Given the description of an element on the screen output the (x, y) to click on. 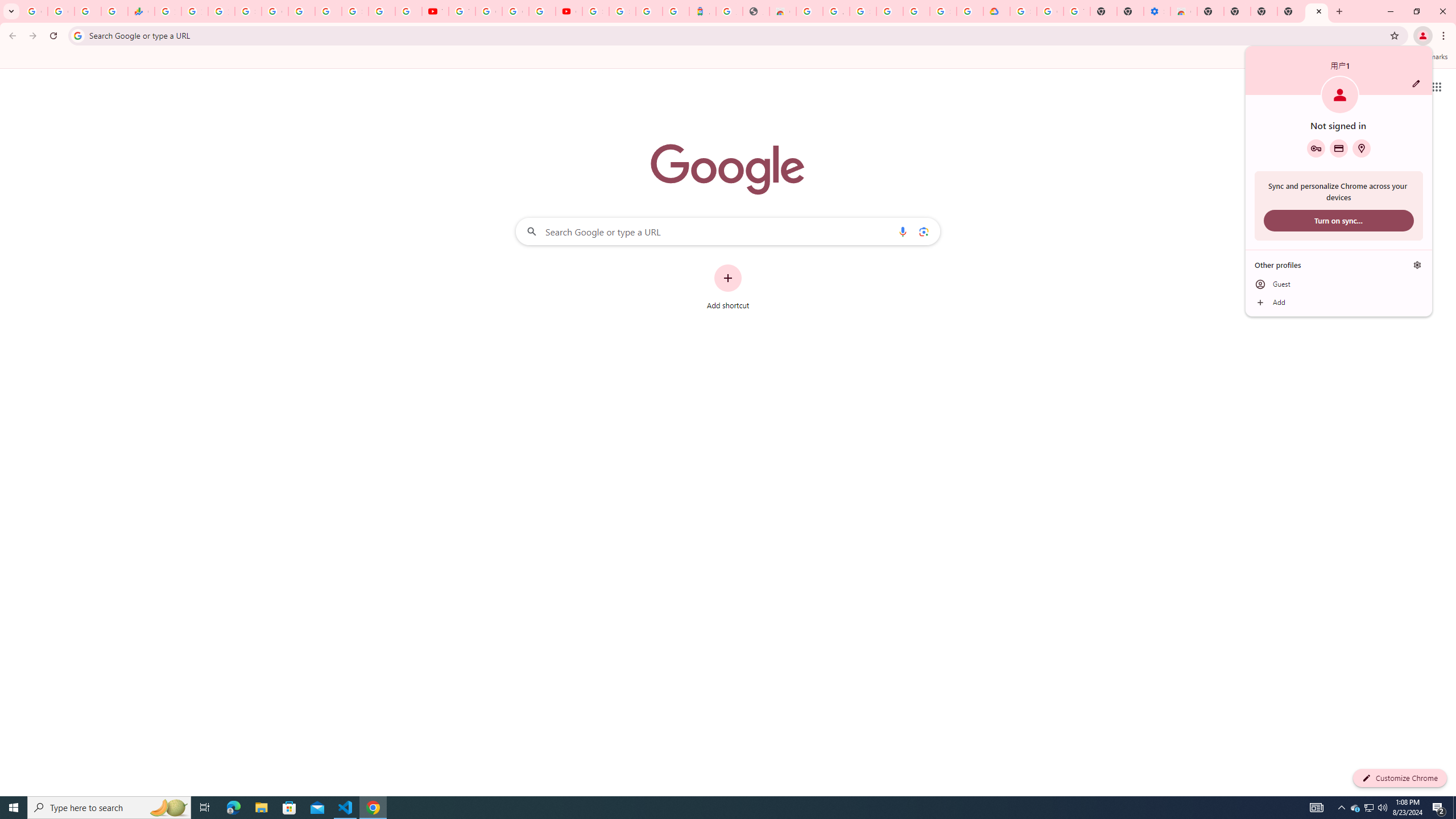
Add (1338, 302)
Guest (1338, 284)
New Tab (1316, 11)
YouTube (462, 11)
Microsoft Store (289, 807)
Notification Chevron (1341, 807)
Sign in - Google Accounts (943, 11)
